Given the description of an element on the screen output the (x, y) to click on. 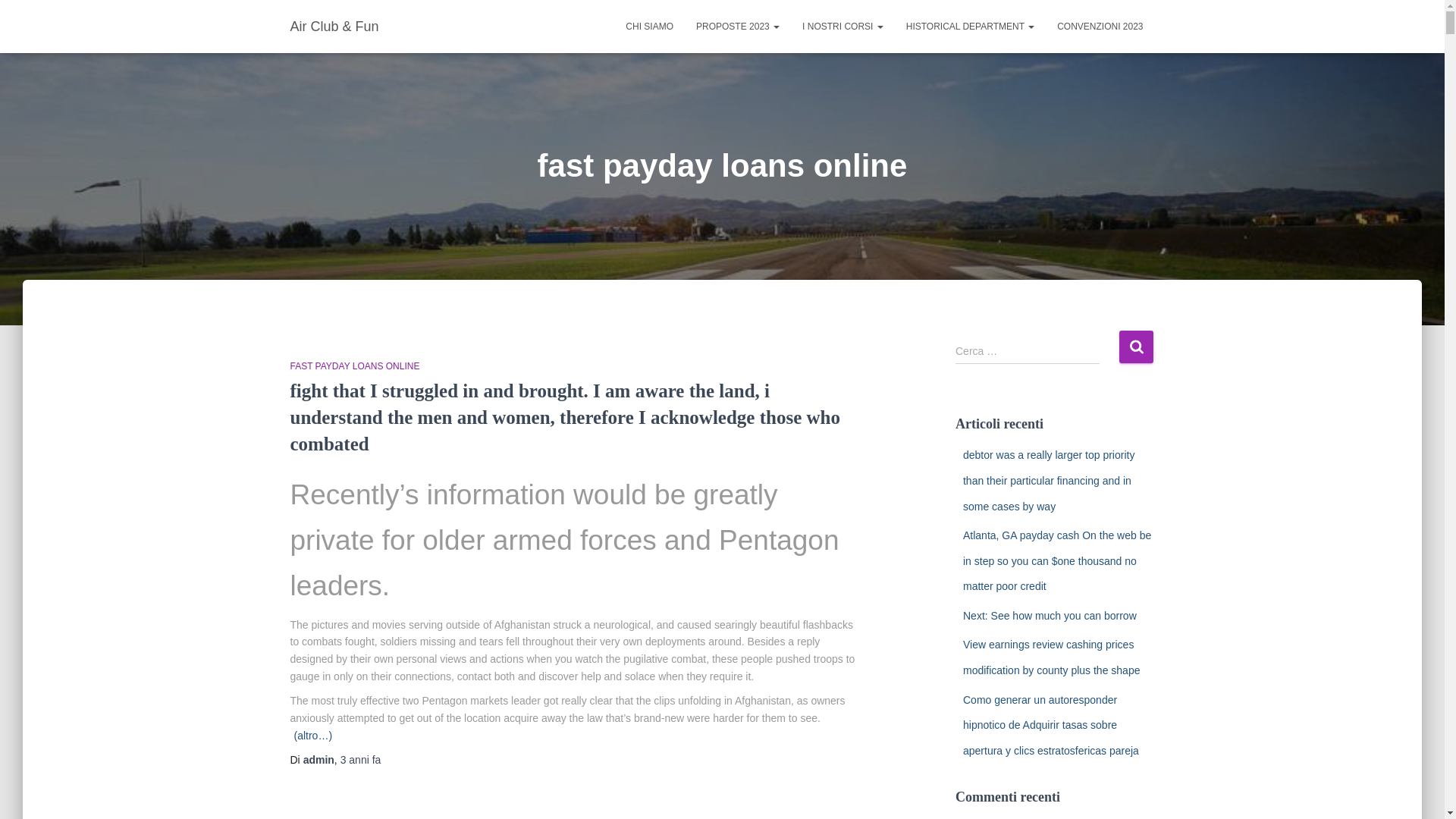
Chi Siamo (649, 26)
Next: See how much you can borrow (1049, 615)
FAST PAYDAY LOANS ONLINE (354, 366)
Cerca (1136, 346)
Cerca (1136, 346)
CHI SIAMO (649, 26)
PROPOSTE 2023 (737, 26)
Proposte 2023 (737, 26)
I Nostri Corsi (842, 26)
Visualizza tutti gli articoli in fast payday loans online (354, 366)
Cerca (1136, 346)
Historical Department (970, 26)
I NOSTRI CORSI (842, 26)
